Given the description of an element on the screen output the (x, y) to click on. 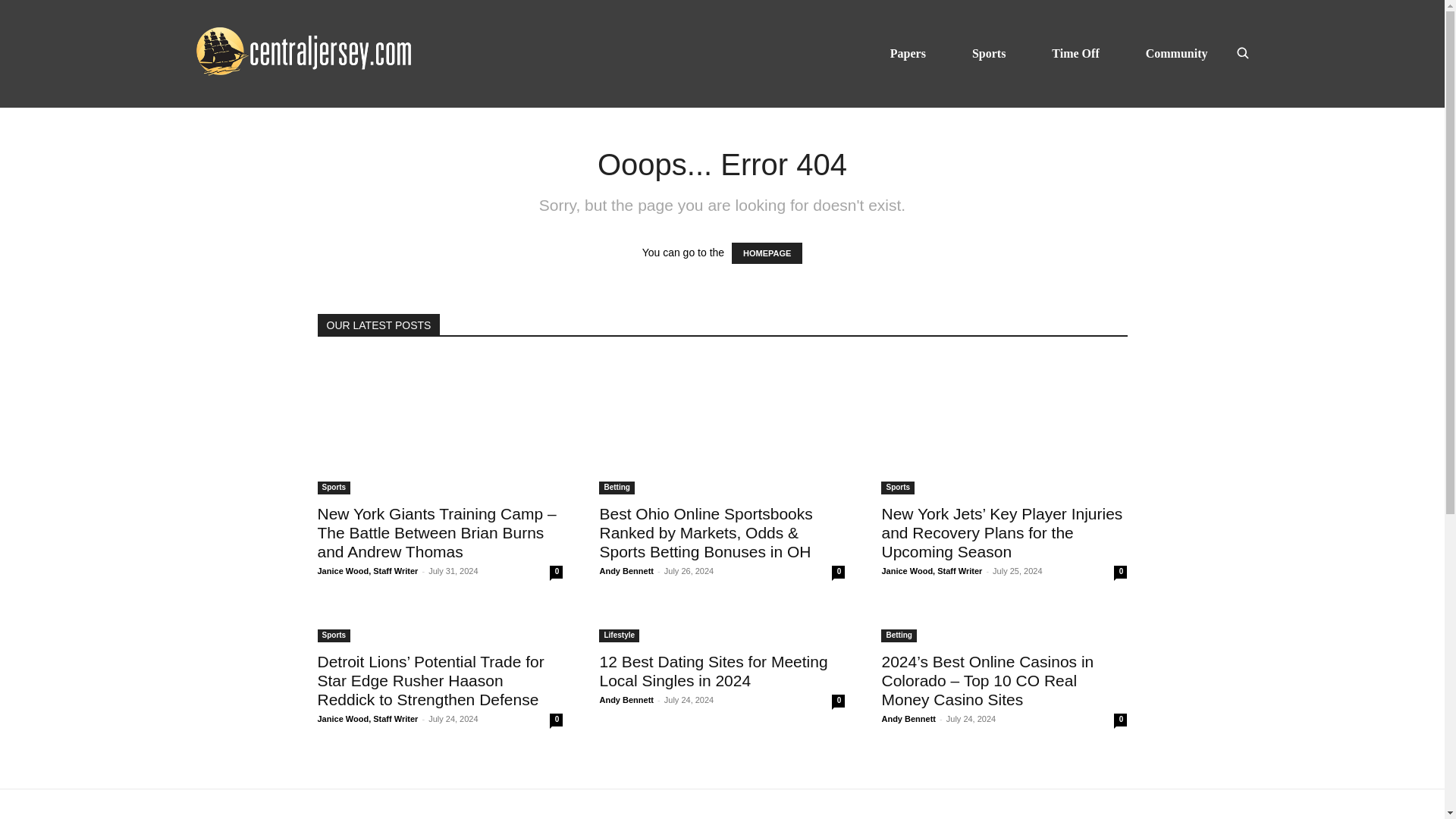
Sports (333, 487)
0 (556, 571)
12 Best Dating Sites for Meeting Local Singles in 2024 (712, 670)
HOMEPAGE (767, 252)
Janice Wood, Staff Writer (367, 570)
Time Off (1075, 52)
Betting (615, 487)
Community (1176, 52)
Sports (989, 52)
12 Best Dating Sites for Meeting Local Singles in 2024 (721, 626)
Papers (907, 52)
